Given the description of an element on the screen output the (x, y) to click on. 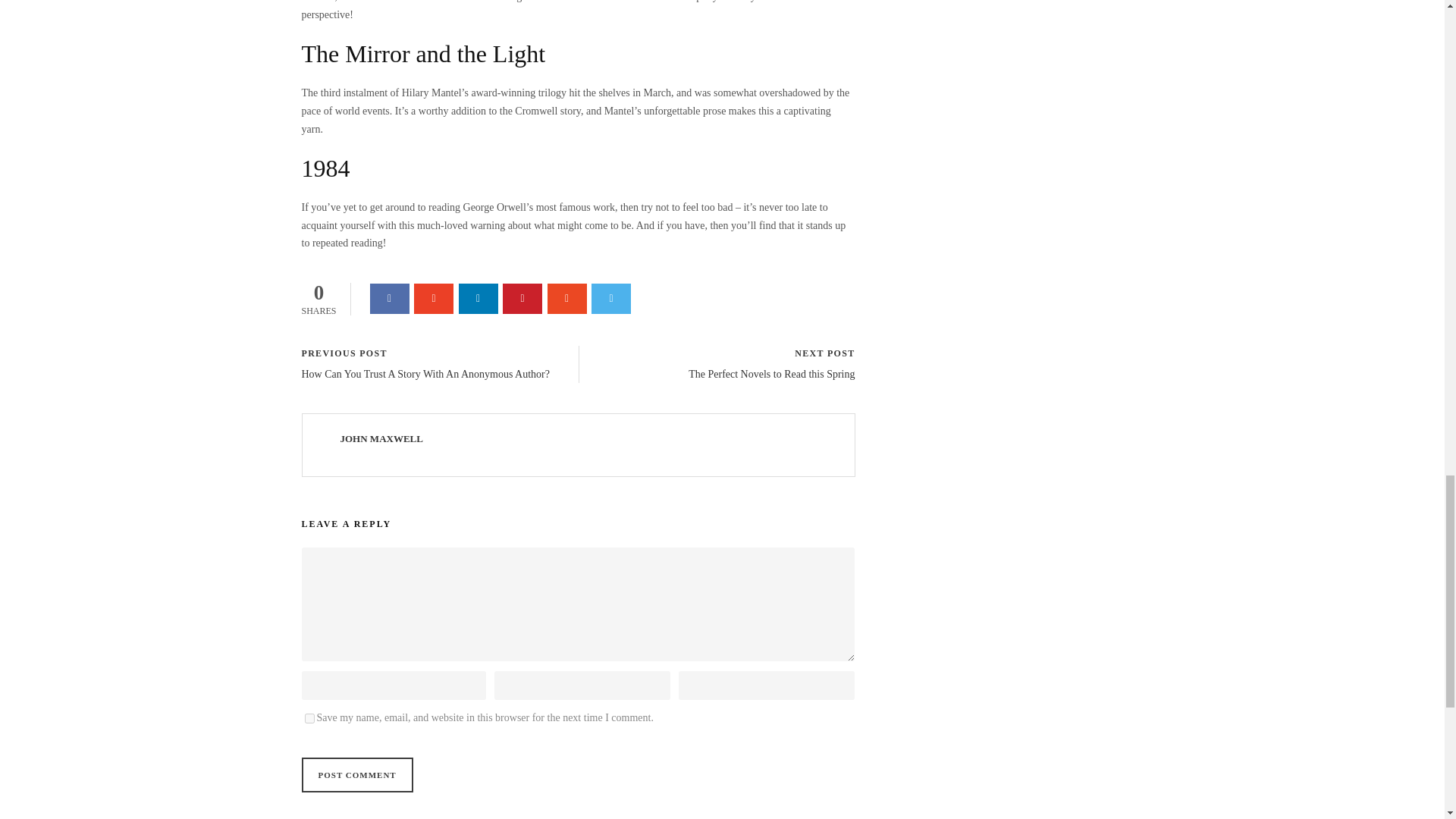
Posts by John Maxwell (380, 438)
yes (309, 718)
Post Comment (357, 774)
